Given the description of an element on the screen output the (x, y) to click on. 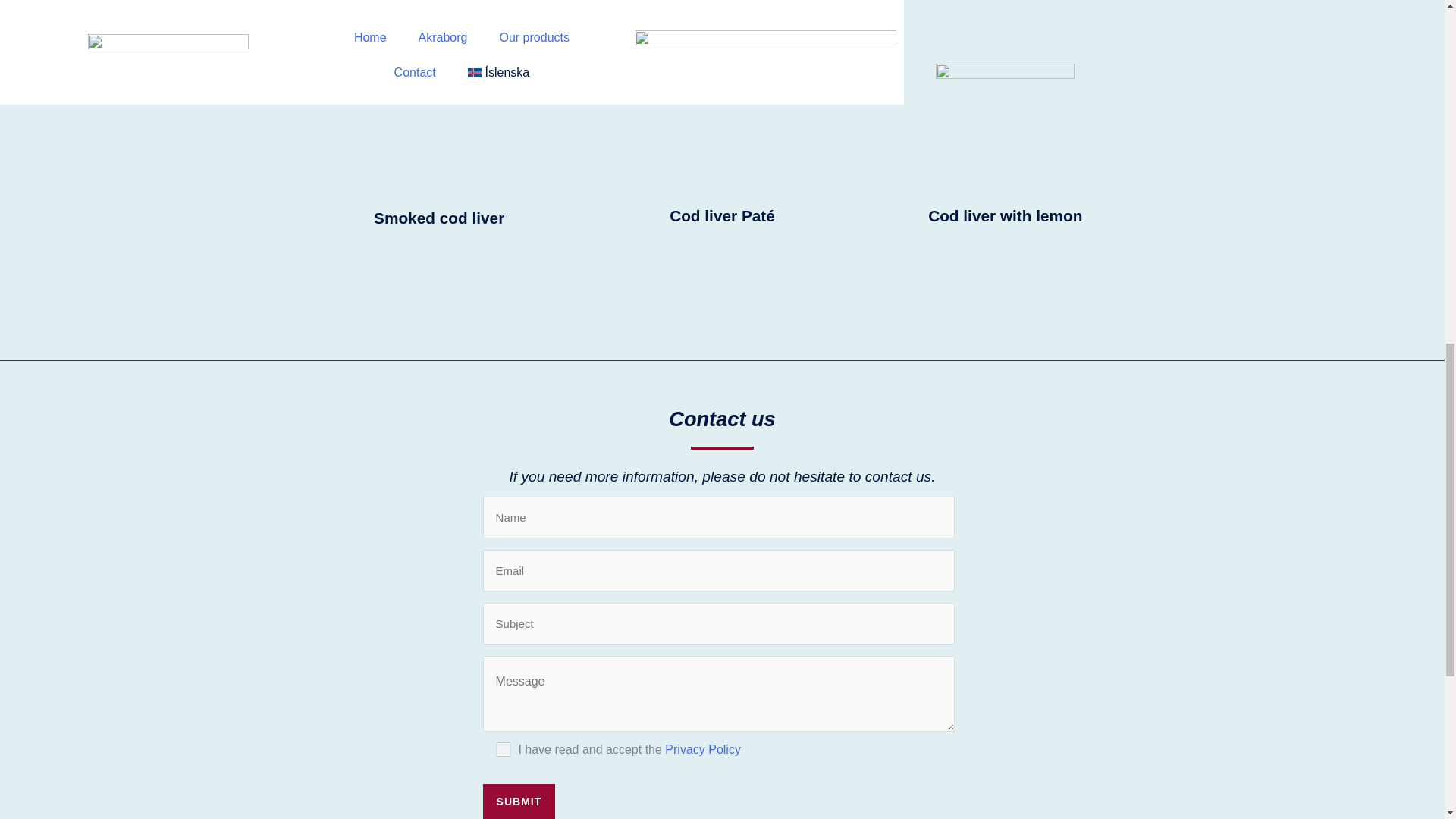
Submit (519, 801)
Submit (519, 801)
1 (503, 749)
Privacy Policy (703, 748)
